Given the description of an element on the screen output the (x, y) to click on. 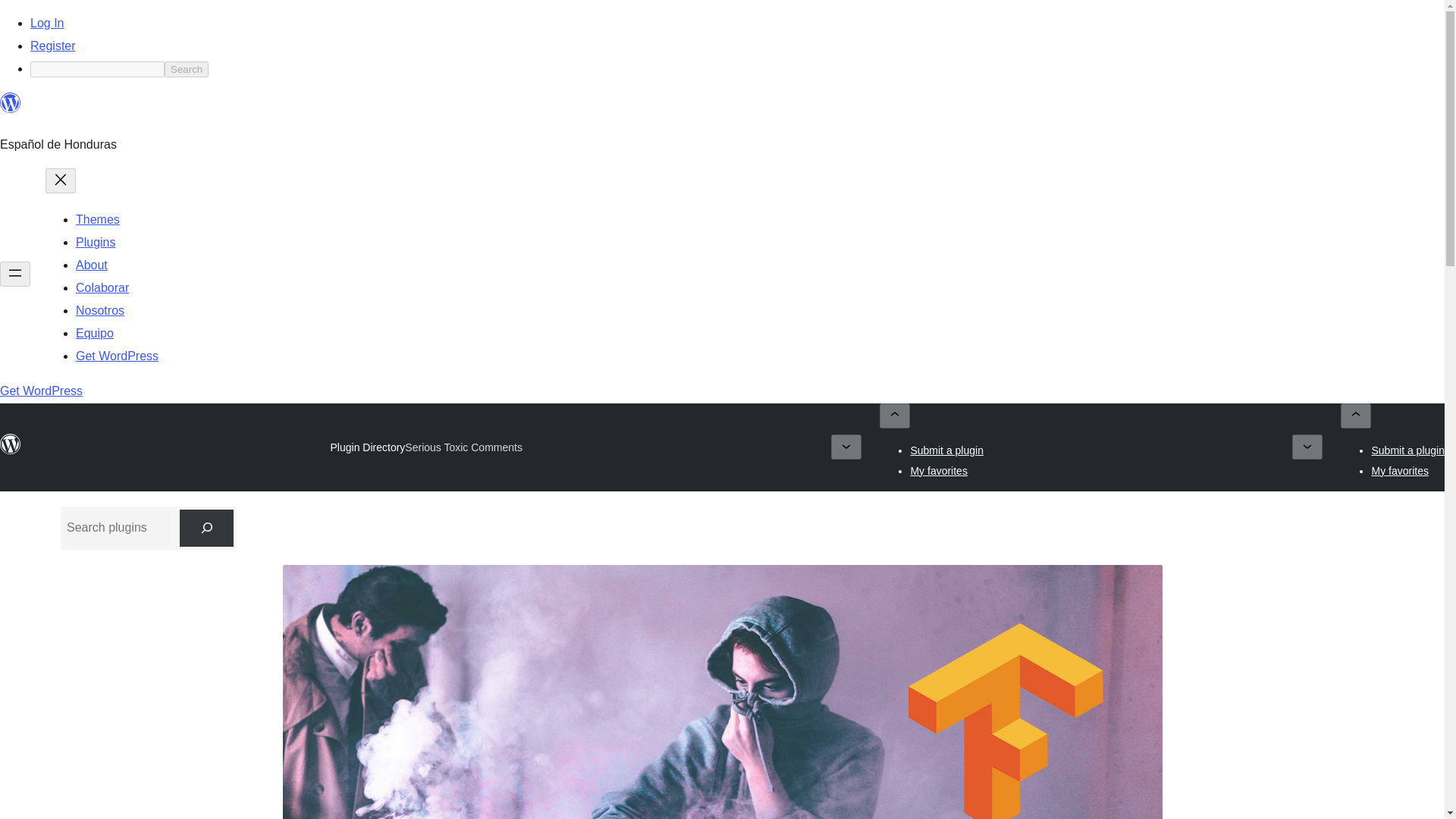
Search (186, 68)
Plugin Directory (368, 447)
My favorites (1399, 469)
Register (52, 45)
Get WordPress (116, 355)
Log In (47, 22)
Nosotros (99, 309)
Search (186, 68)
WordPress.org (10, 451)
Themes (97, 219)
Plugins (95, 241)
Get WordPress (41, 390)
Serious Toxic Comments (463, 447)
WordPress.org (10, 444)
WordPress.org (10, 102)
